Given the description of an element on the screen output the (x, y) to click on. 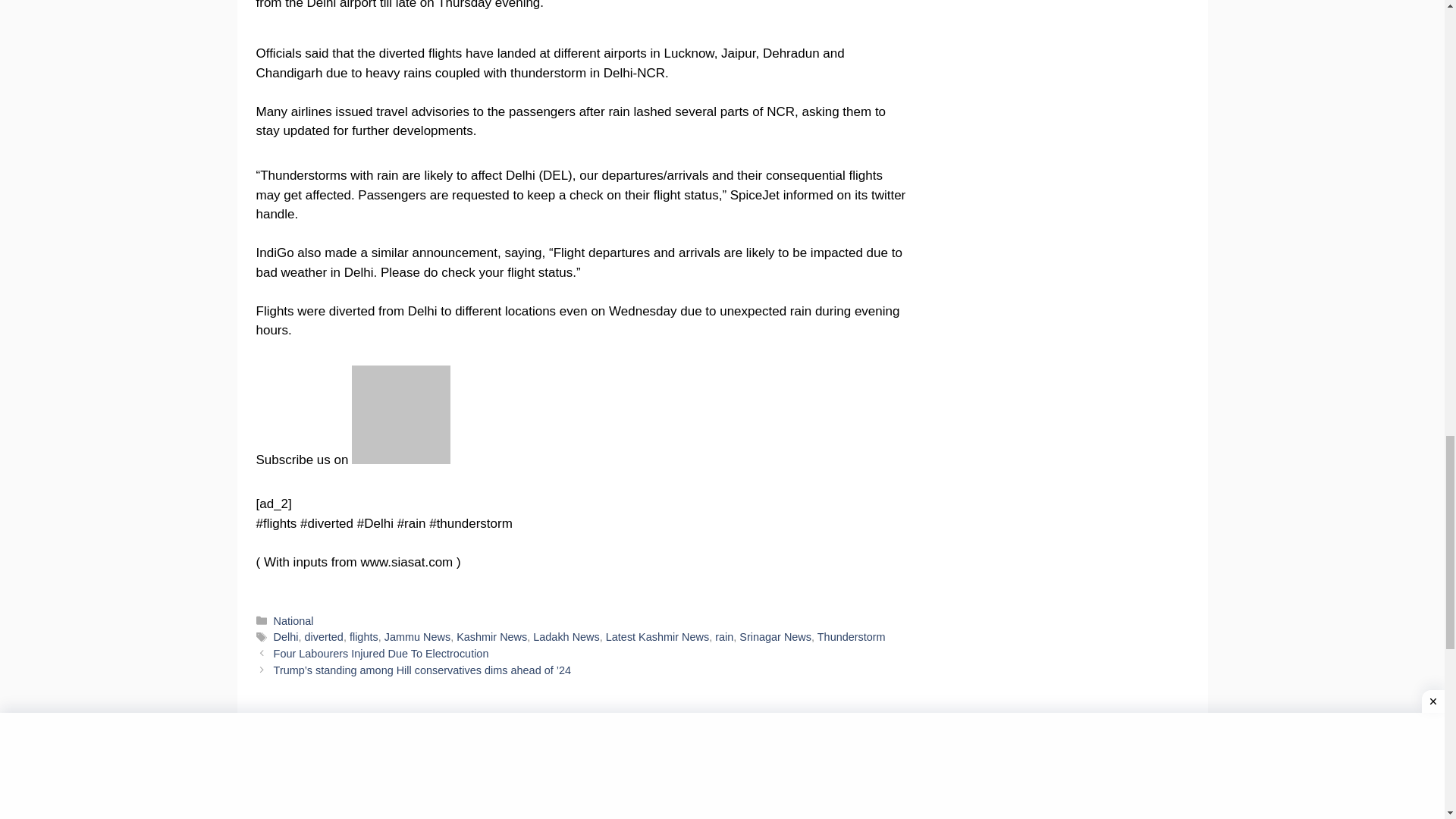
Thunderstorm (850, 636)
Ladakh News (565, 636)
diverted (323, 636)
Srinagar News (774, 636)
flights (363, 636)
Jammu News (416, 636)
rain (723, 636)
National (293, 621)
Delhi (285, 636)
Latest Kashmir News (657, 636)
